Given the description of an element on the screen output the (x, y) to click on. 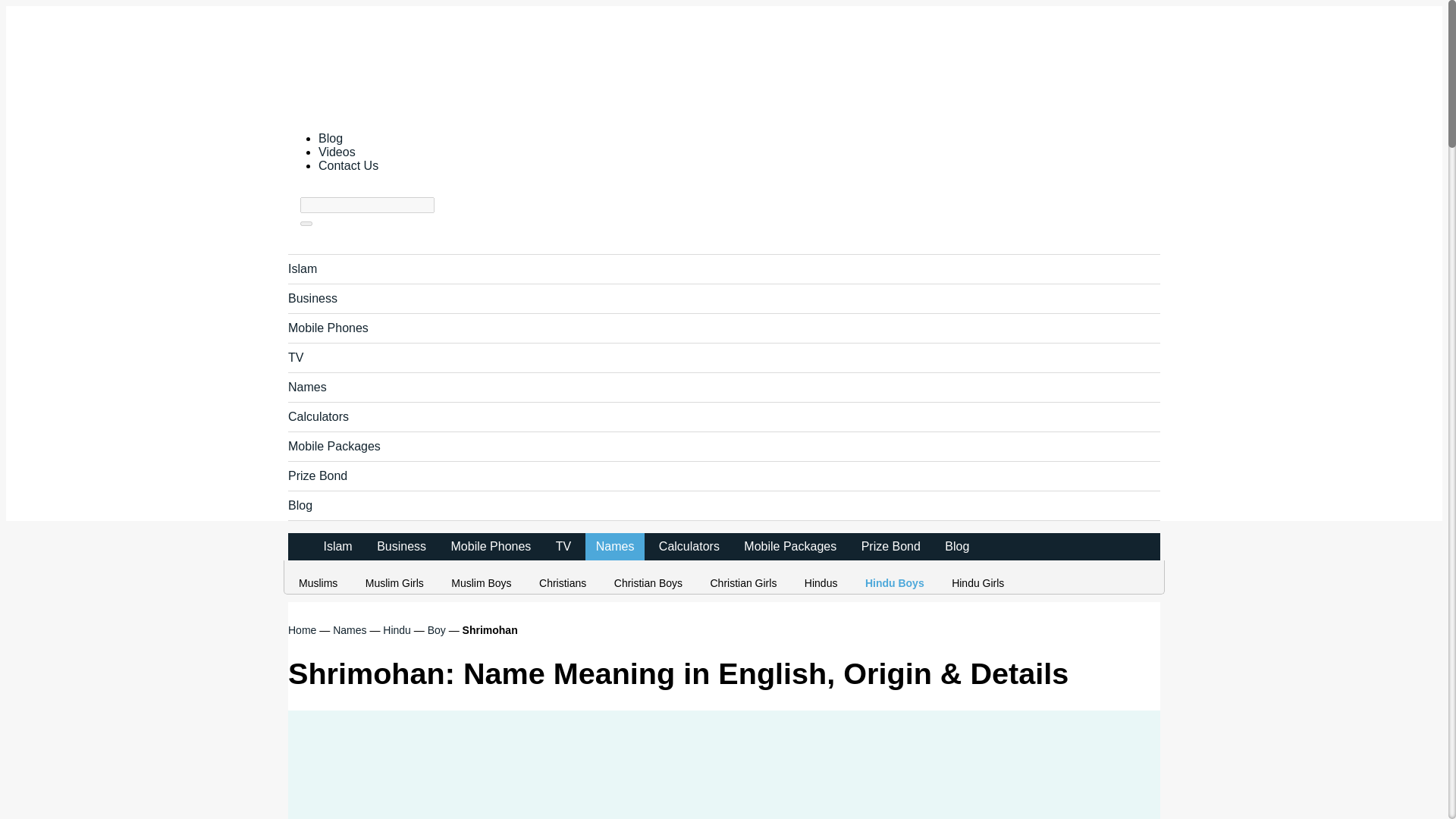
Blog (956, 546)
Hindu Boys (895, 582)
Christians (563, 582)
Muslims (319, 582)
Muslim Girls (396, 582)
Boy (436, 630)
Mobile Packages (334, 445)
Hindu Girls (978, 582)
Prize Bond (890, 546)
Calculators (318, 416)
Business (401, 546)
TV (295, 357)
Videos (336, 151)
Prize Bond (317, 475)
Mobile Phones (328, 327)
